Given the description of an element on the screen output the (x, y) to click on. 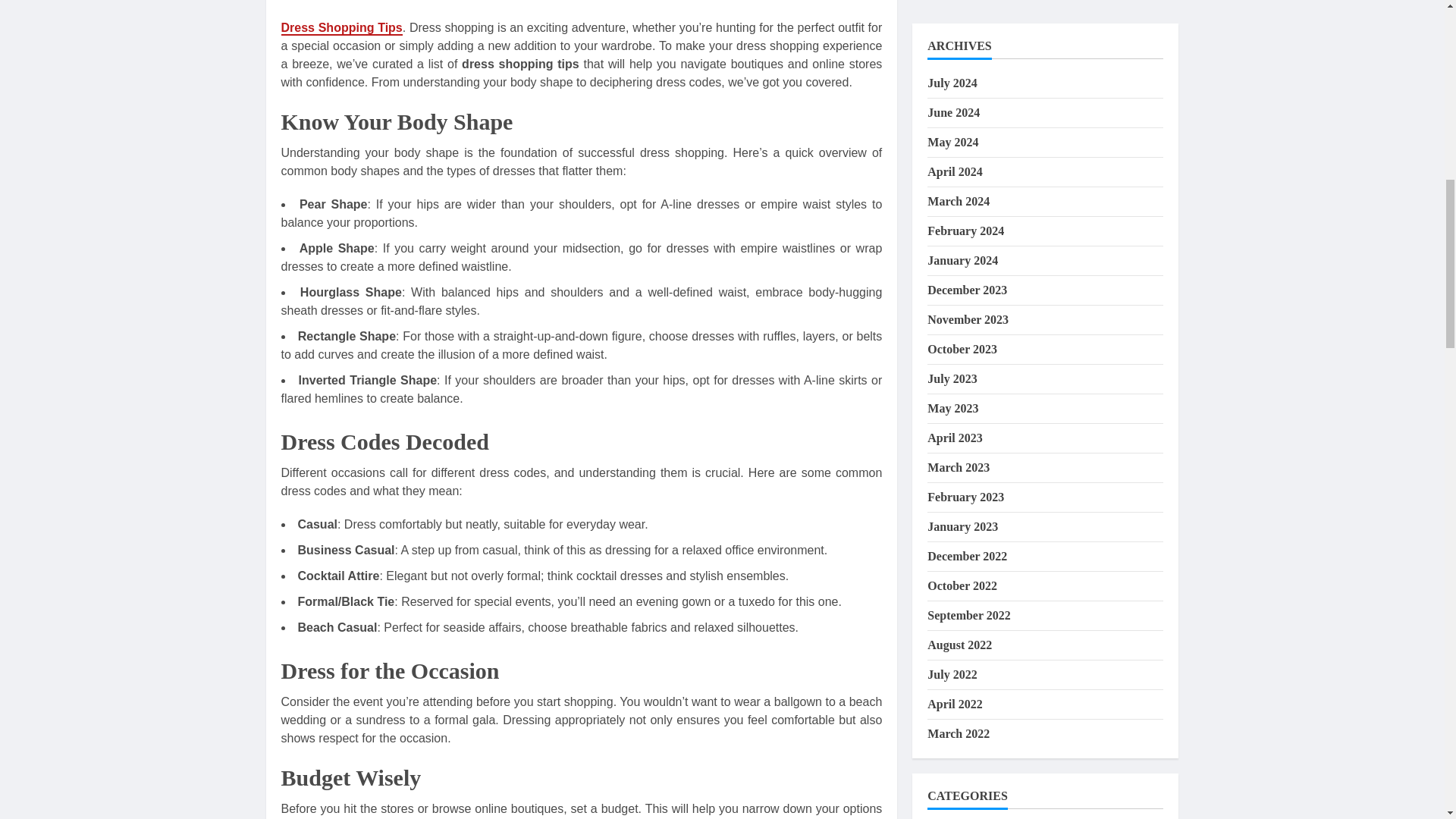
Dress Shopping Tips (341, 28)
